Given the description of an element on the screen output the (x, y) to click on. 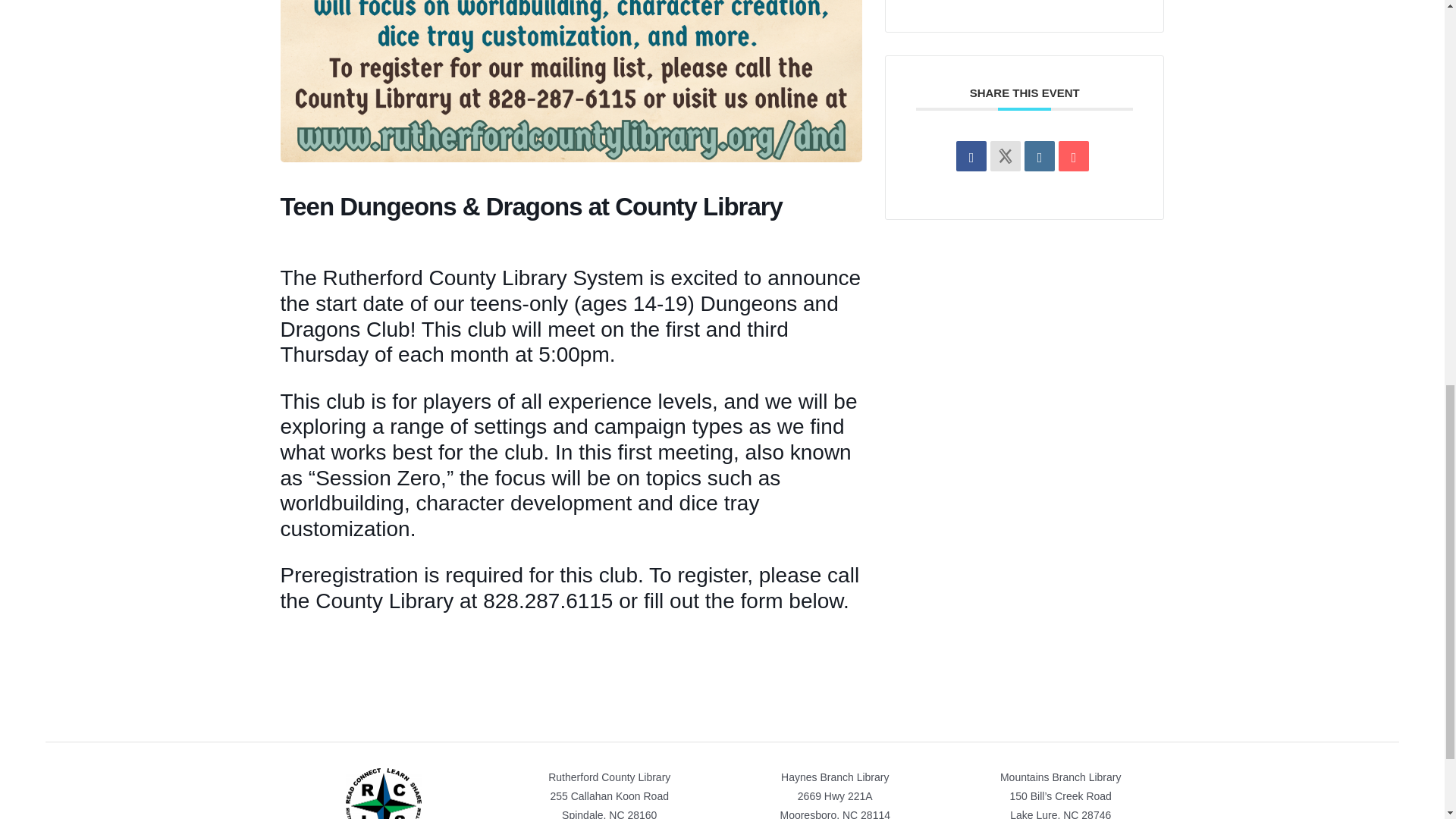
Linkedin (1039, 155)
Email (1073, 155)
Share on Facebook (971, 155)
X Social Network (1005, 155)
